Given the description of an element on the screen output the (x, y) to click on. 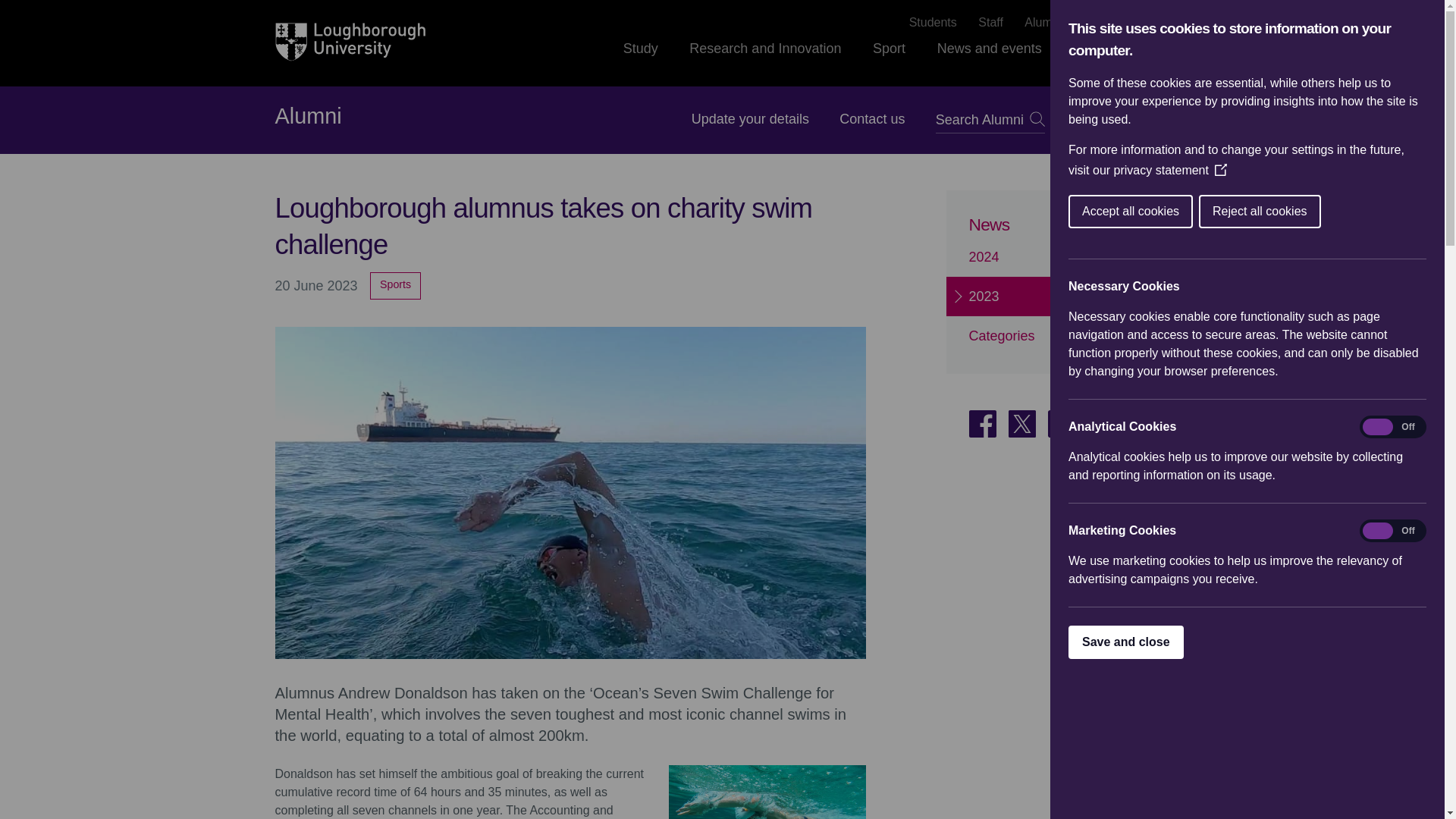
Staff (990, 22)
Save and close (1221, 642)
Contact us (872, 119)
Students (932, 22)
Loughborough University (350, 41)
News and events (989, 61)
MENU (1122, 119)
Accept all cookies (1363, 211)
Update your details (750, 119)
Research and Innovation (764, 61)
Toggle global search (1160, 48)
Alumni (1043, 22)
Go (1037, 118)
Alumni (307, 116)
Jobs (1096, 22)
